Given the description of an element on the screen output the (x, y) to click on. 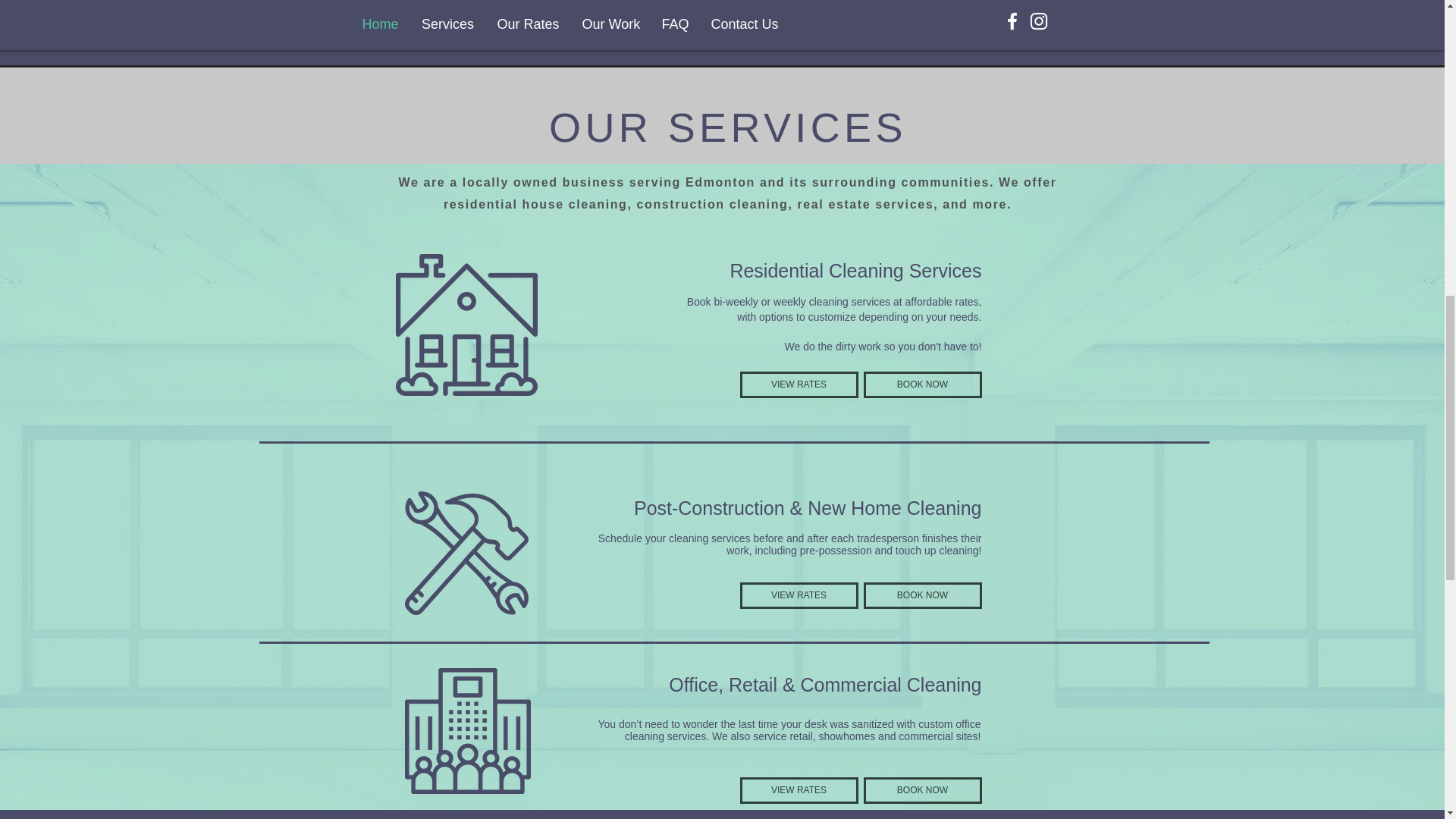
BOOK NOW (922, 790)
BOOK NOW (922, 595)
BOOK NOW (922, 384)
VIEW RATES (799, 790)
VIEW RATES (799, 384)
VIEW RATES (799, 595)
